Given the description of an element on the screen output the (x, y) to click on. 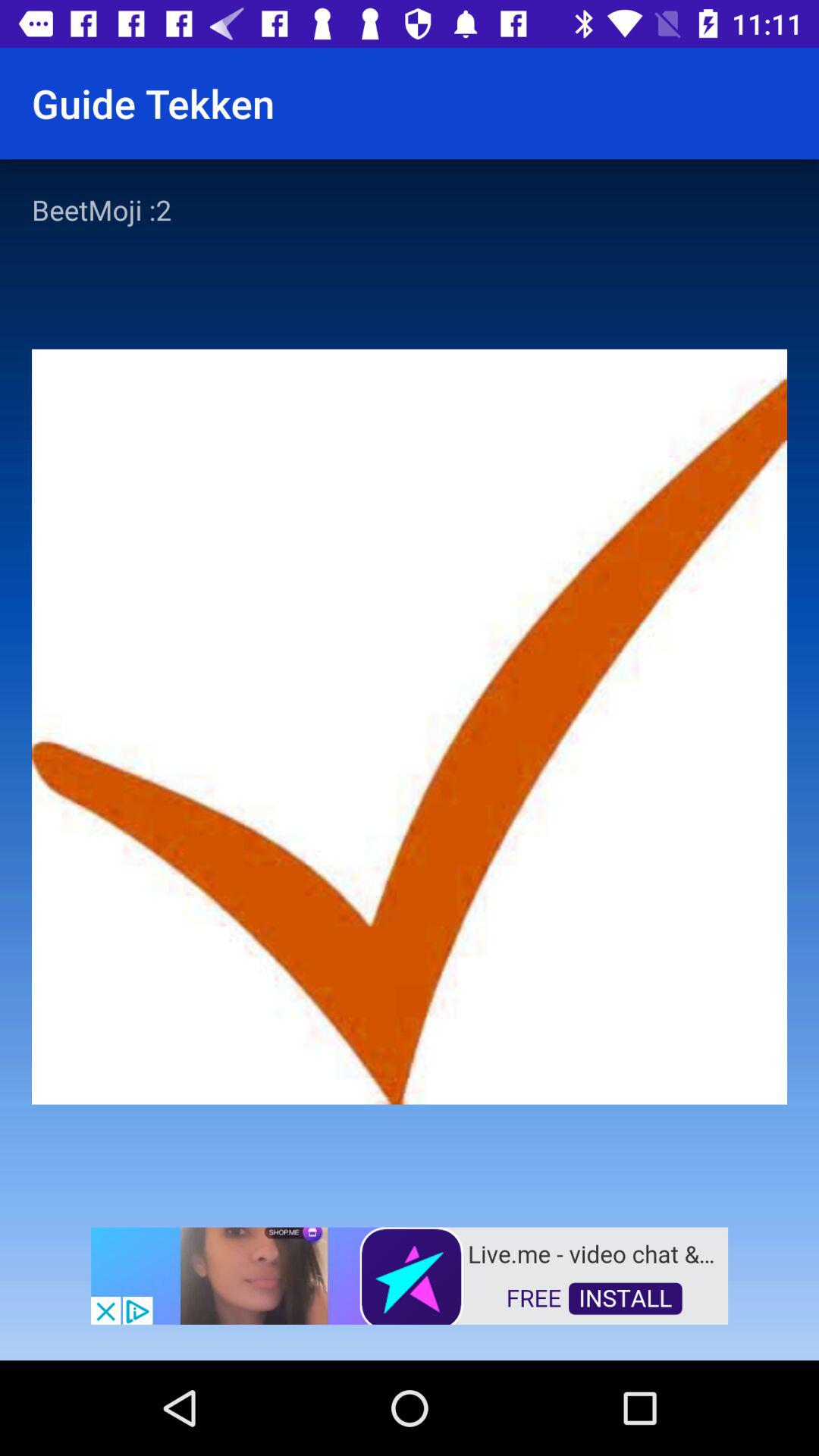
click on advertisement (409, 1274)
